Given the description of an element on the screen output the (x, y) to click on. 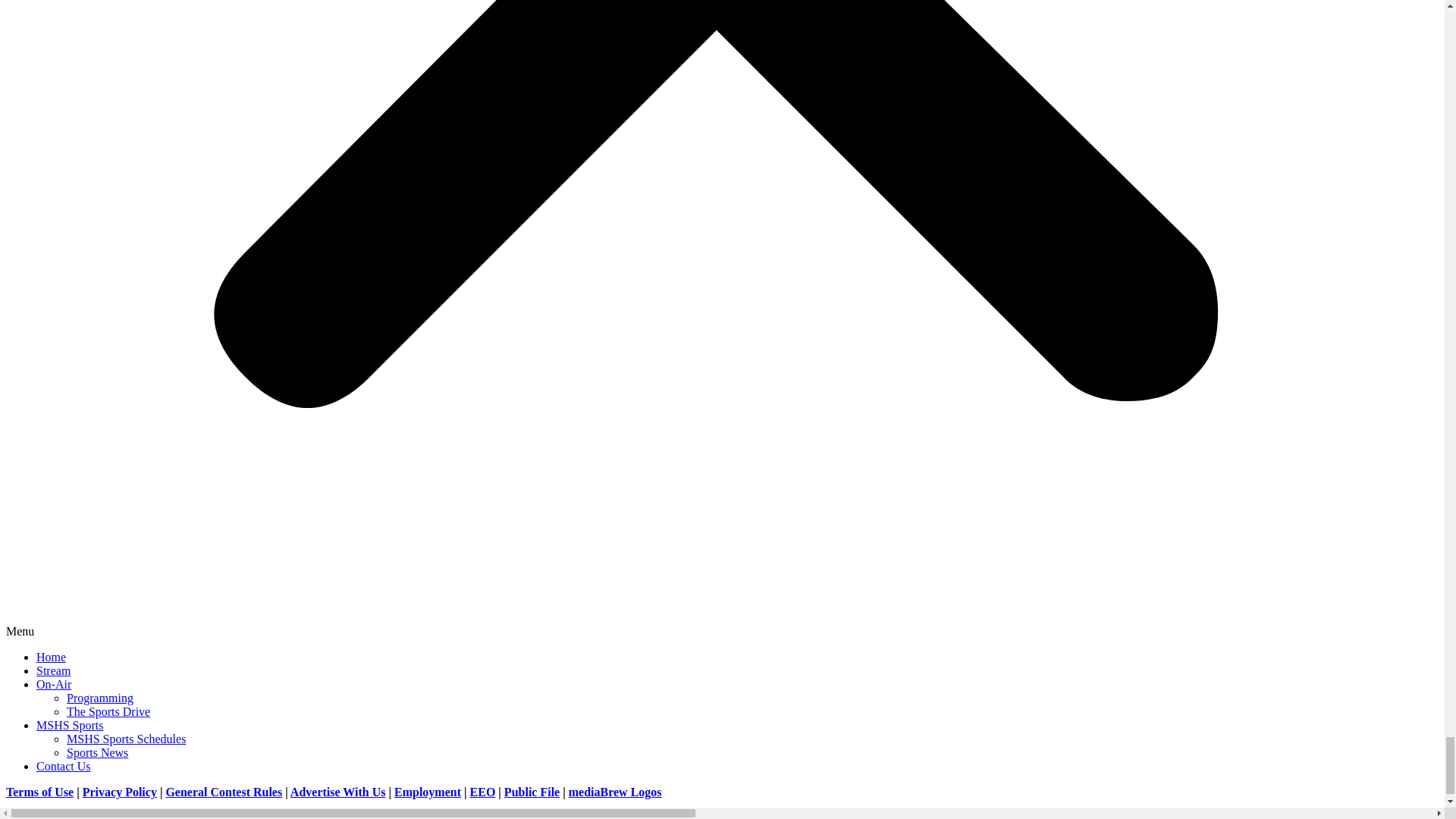
mediaBrew Terms of Use (39, 791)
mediaBrew Communications Privacy Policy (119, 791)
mediaBrew Employment (427, 791)
mediaBrew Communications Public File (531, 791)
Advertise with mediaBrew Communications (337, 791)
mediaBrew Logo Pack (615, 791)
mediaBrew EEO (483, 791)
mediaBrew General Contest Rules (223, 791)
